Given the description of an element on the screen output the (x, y) to click on. 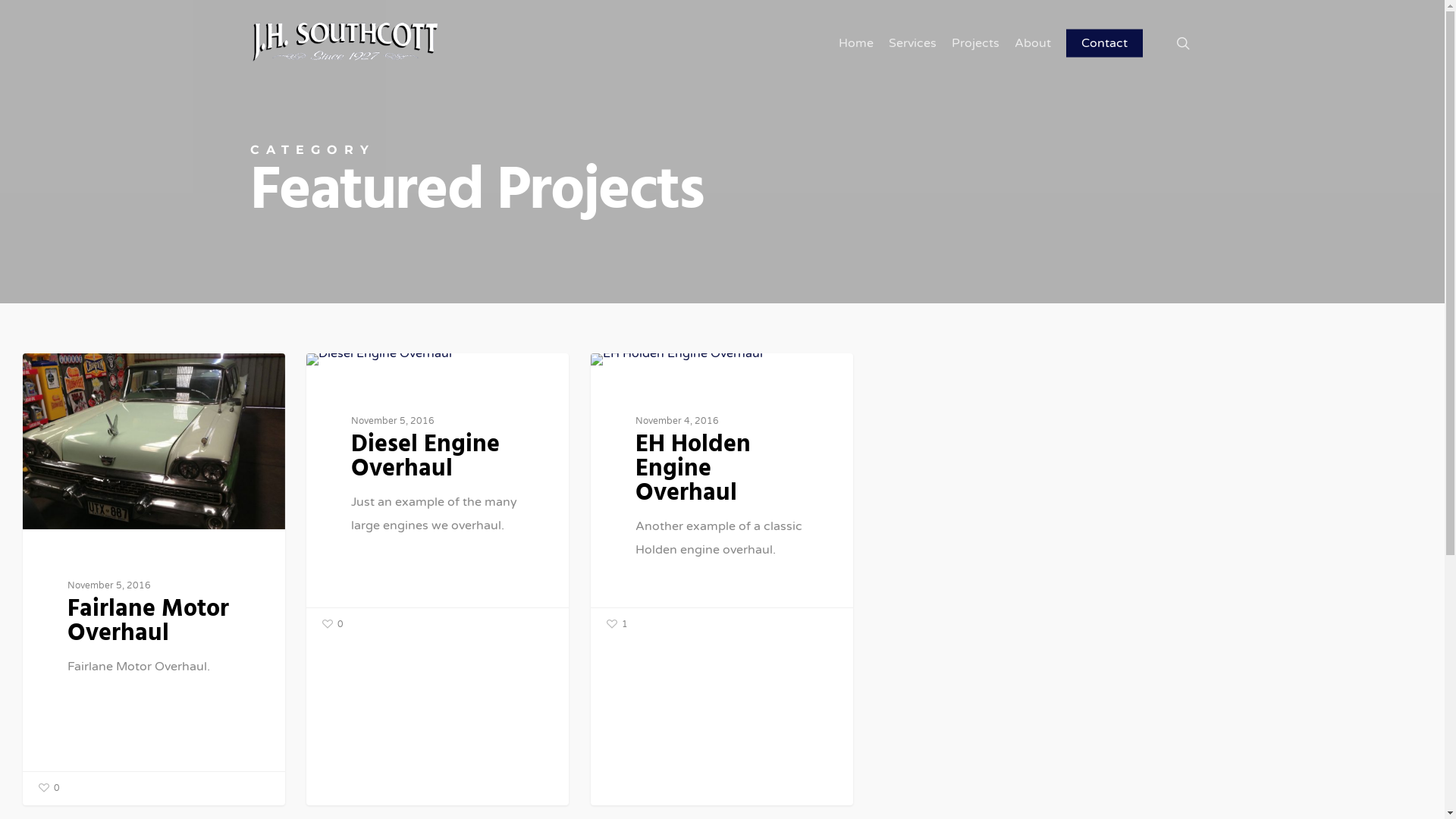
Diesel Engine Overhaul Element type: text (425, 456)
About Element type: text (1032, 42)
Contact Element type: text (1104, 42)
0 Element type: text (332, 624)
Home Element type: text (855, 42)
1 Element type: text (616, 624)
EH Holden Engine Overhaul Element type: text (692, 468)
0 Element type: text (48, 788)
Services Element type: text (912, 42)
Fairlane Motor Overhaul Element type: text (148, 620)
Projects Element type: text (975, 42)
